Given the description of an element on the screen output the (x, y) to click on. 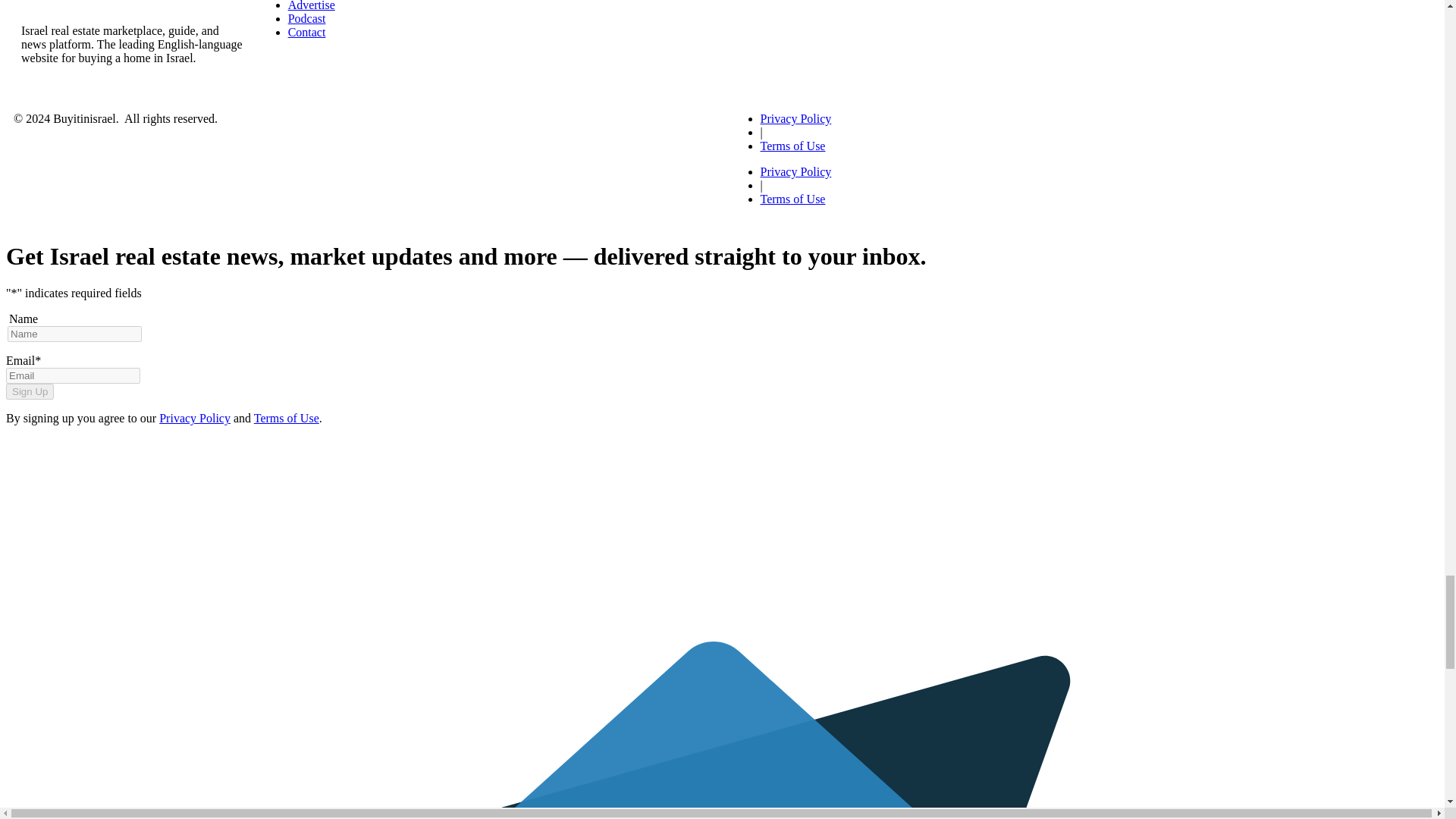
Sign Up (29, 391)
